Given the description of an element on the screen output the (x, y) to click on. 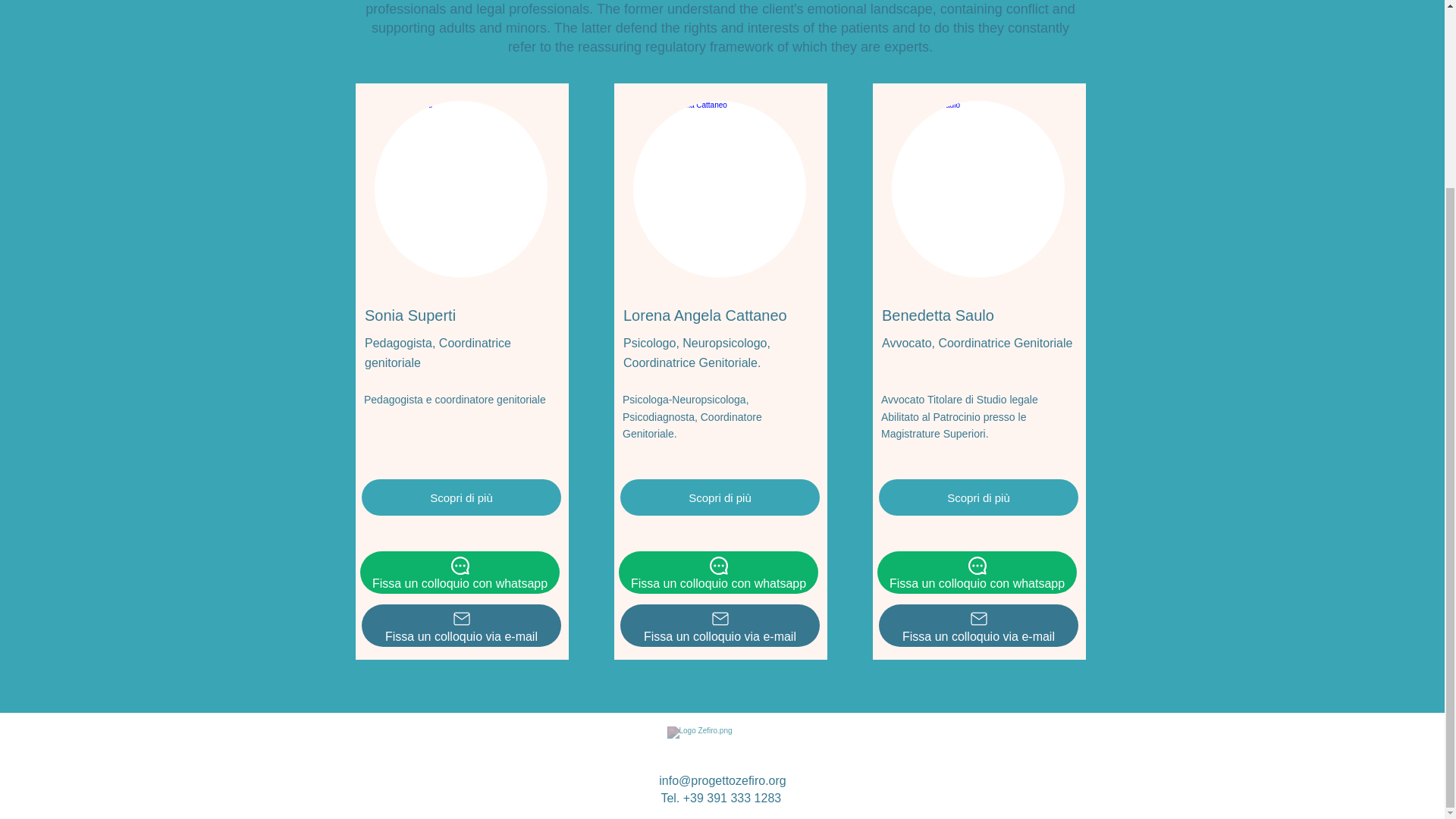
Fissa un colloquio via e-mail (719, 625)
Fissa un colloquio con whatsapp (977, 572)
Fissa un colloquio con whatsapp (459, 572)
Fissa un colloquio via e-mail (978, 625)
foto.jpg (460, 188)
Fissa un colloquio via e-mail (460, 625)
Fissa un colloquio con whatsapp (718, 572)
